Given the description of an element on the screen output the (x, y) to click on. 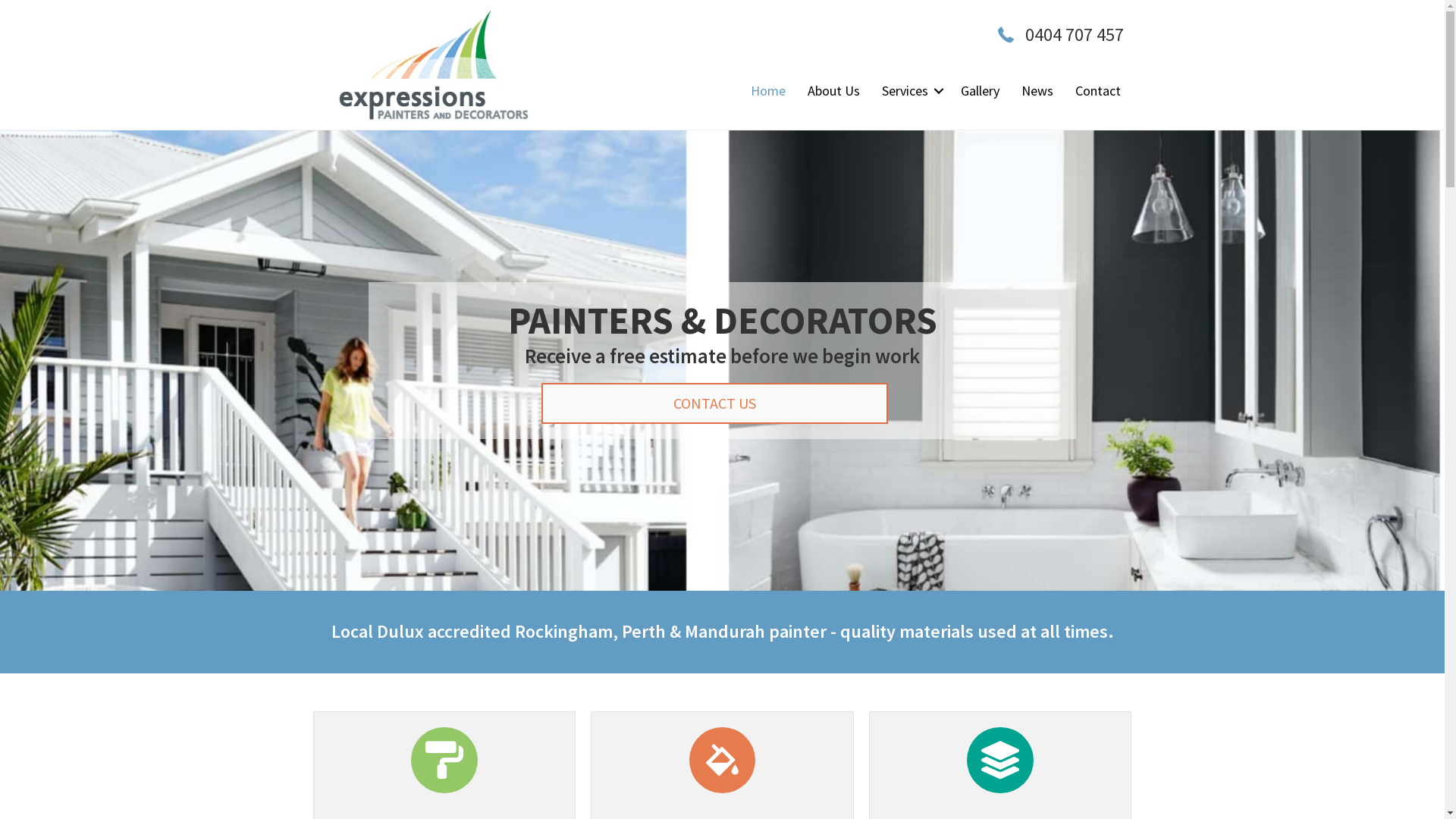
News Element type: text (1036, 90)
Contact Element type: text (1097, 90)
CONTACT US Element type: text (714, 402)
Gallery Element type: text (980, 90)
About Us Element type: text (833, 90)
Logo-website Element type: hover (433, 64)
Skip to main content Element type: text (0, 0)
Home Element type: text (768, 90)
Services Element type: text (910, 90)
